Given the description of an element on the screen output the (x, y) to click on. 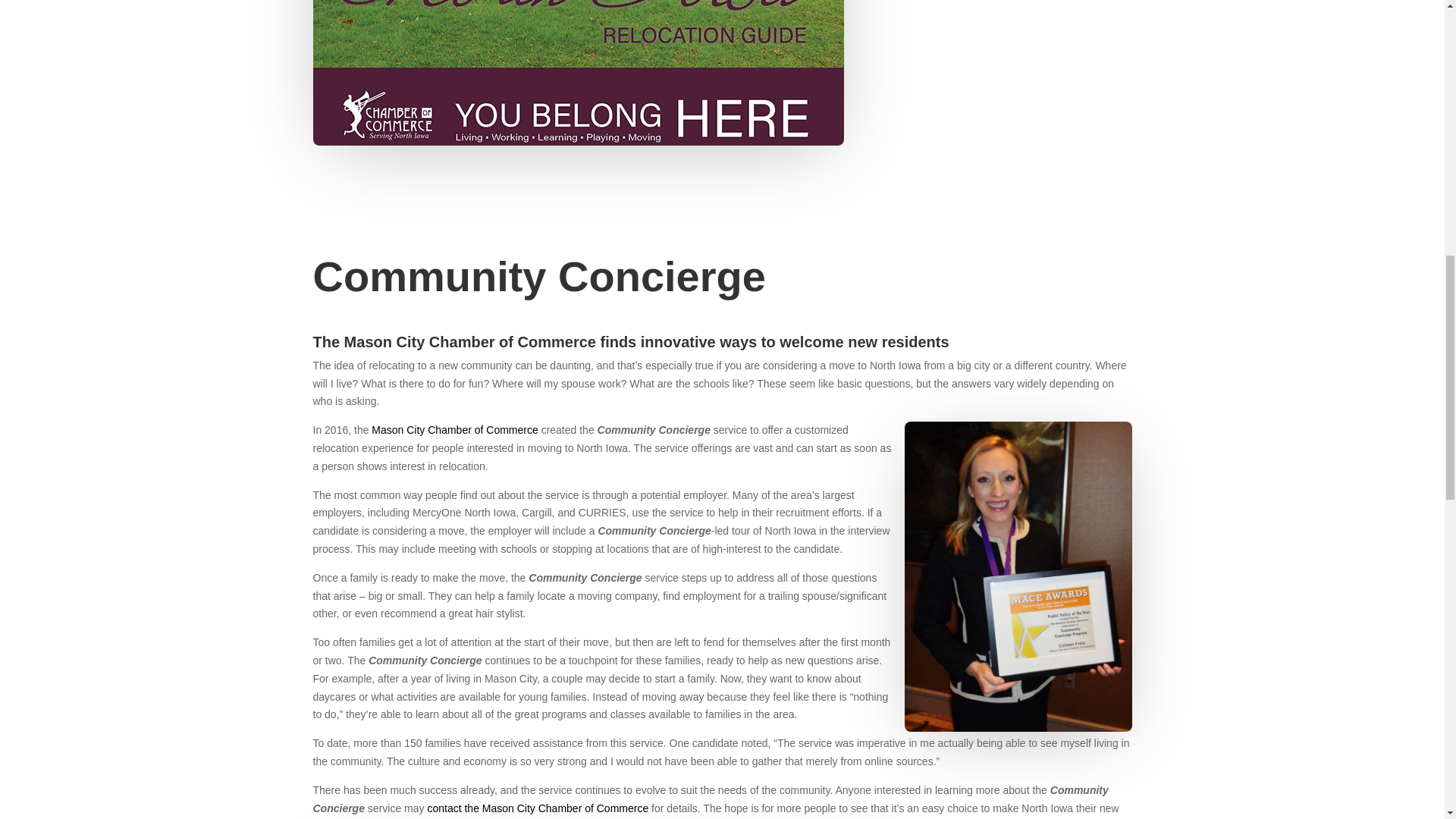
community-concierge01 (578, 72)
Mason City Chamber of Commerce (454, 429)
contact the Mason City Chamber of Commerce (536, 808)
